Given the description of an element on the screen output the (x, y) to click on. 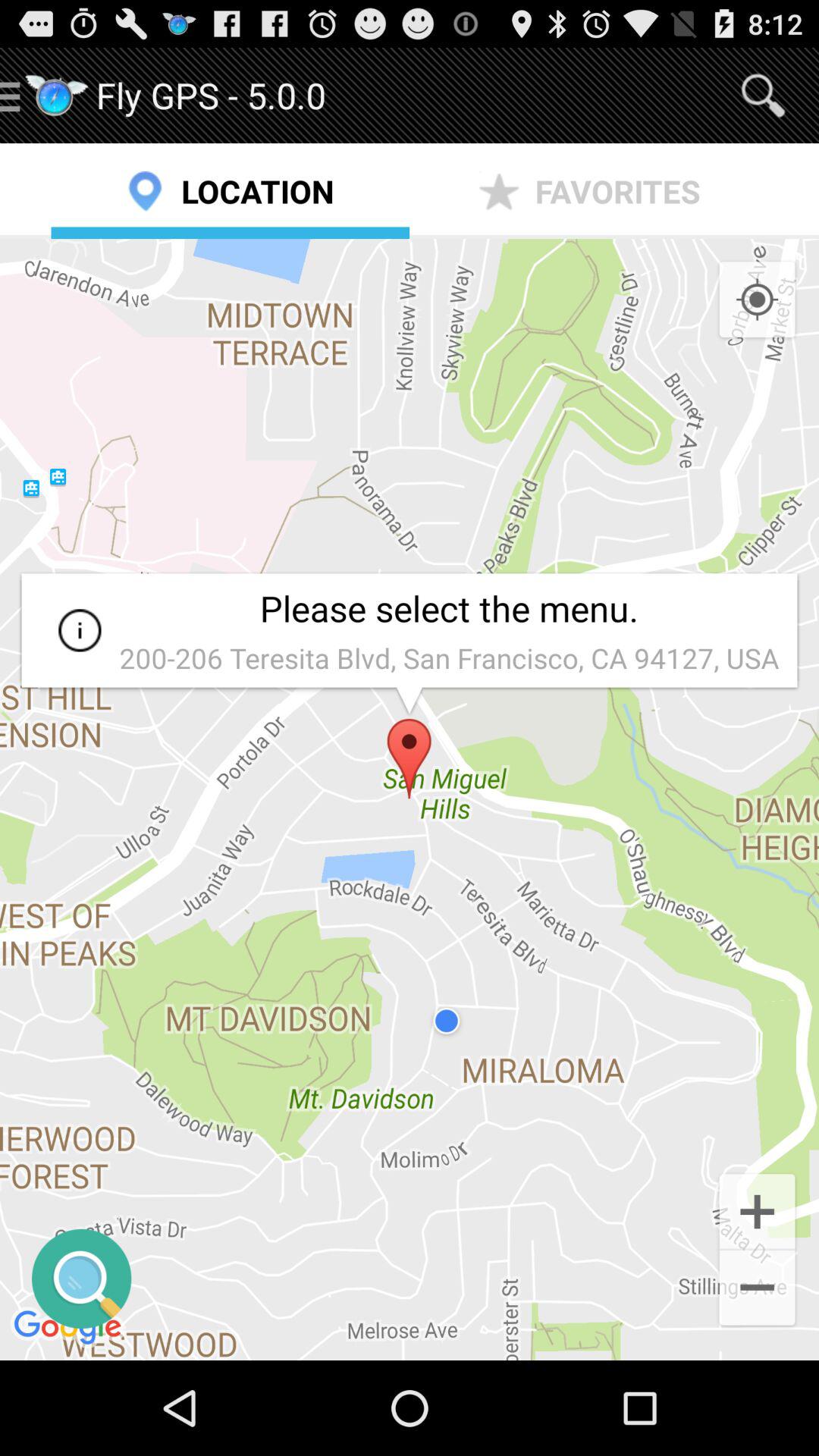
turn off item to the right of the fly gps 5 icon (763, 95)
